Given the description of an element on the screen output the (x, y) to click on. 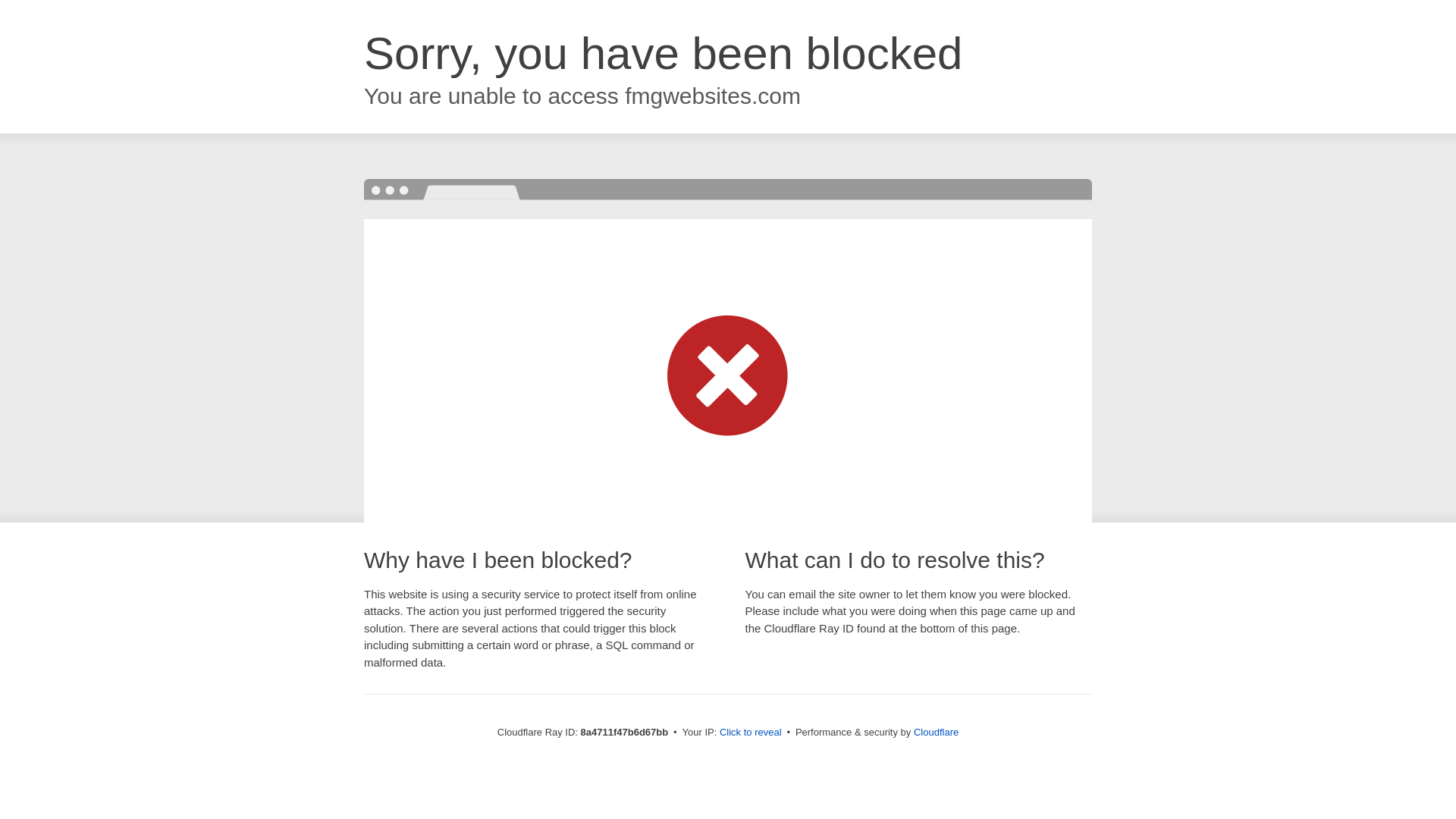
Click to reveal (750, 732)
Cloudflare (936, 731)
